Given the description of an element on the screen output the (x, y) to click on. 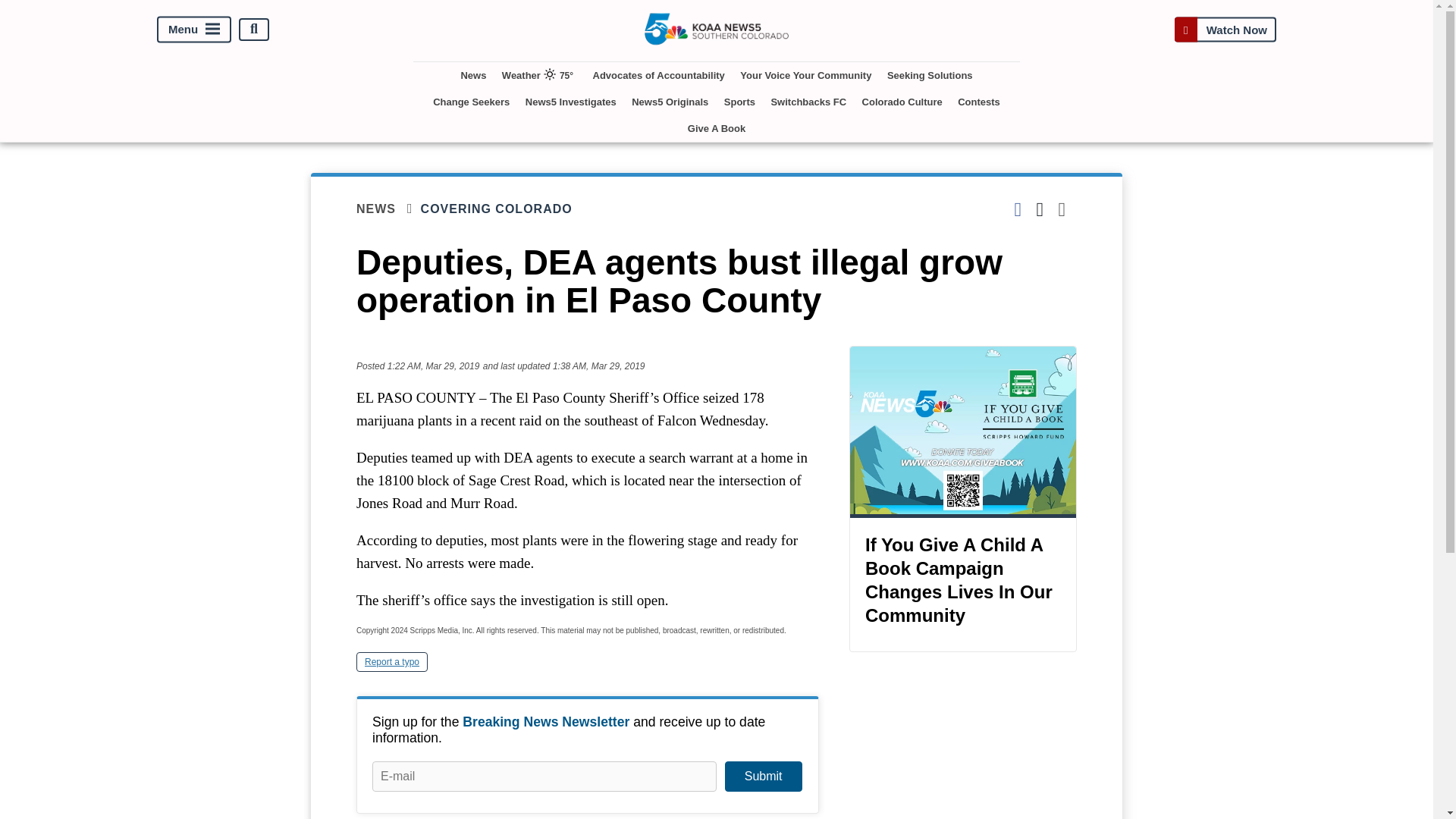
Menu (194, 28)
Submit (763, 776)
Watch Now (1224, 29)
